Given the description of an element on the screen output the (x, y) to click on. 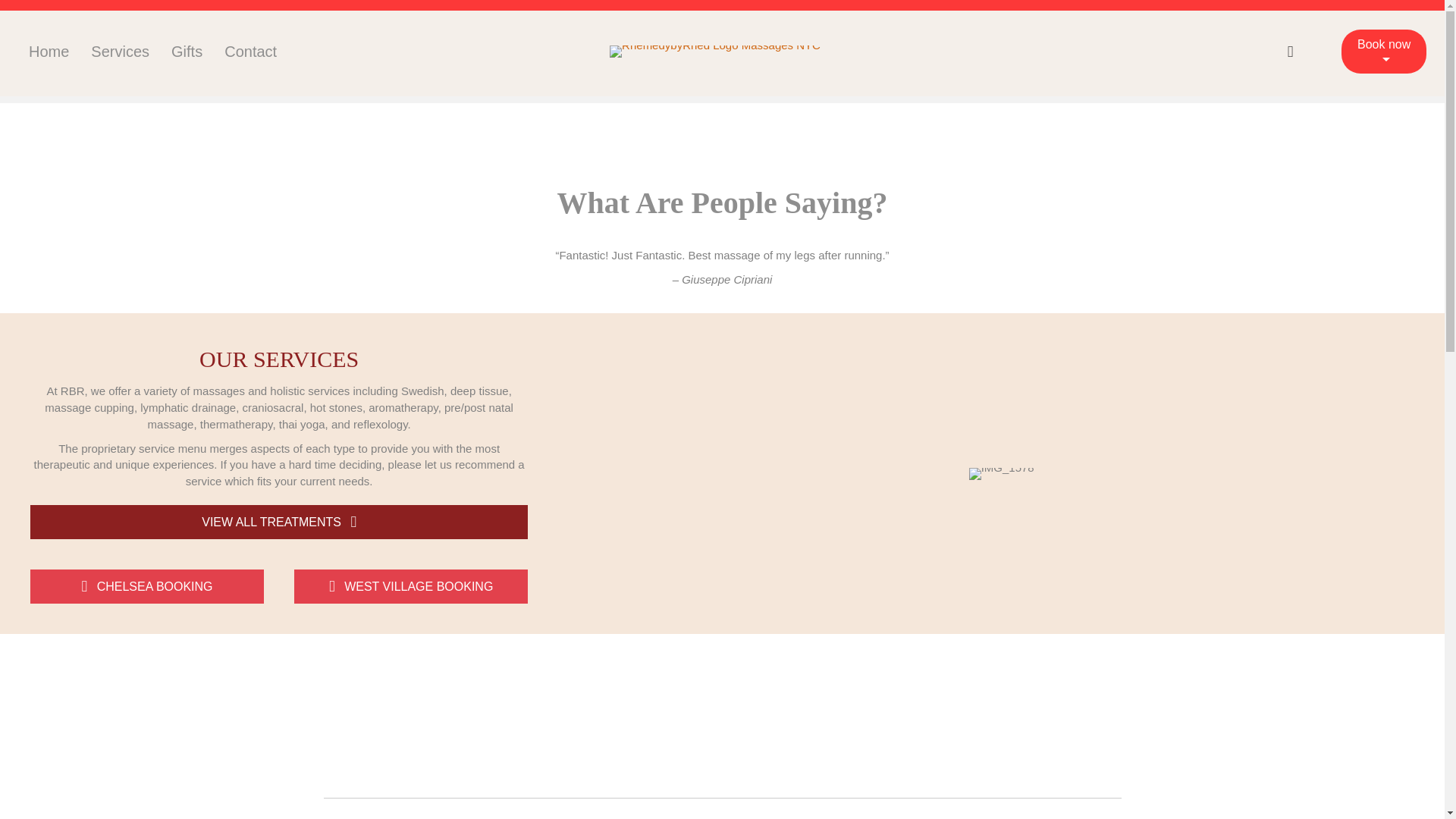
Home (48, 51)
CHELSEA BOOKING (146, 586)
WEST VILLAGE BOOKING (410, 586)
Services (120, 51)
Book now (1383, 51)
OUR SERVICES (278, 358)
Rbrextendedlogo (715, 51)
Contact (250, 51)
Gifts (186, 51)
VIEW ALL TREATMENTS (278, 521)
